Given the description of an element on the screen output the (x, y) to click on. 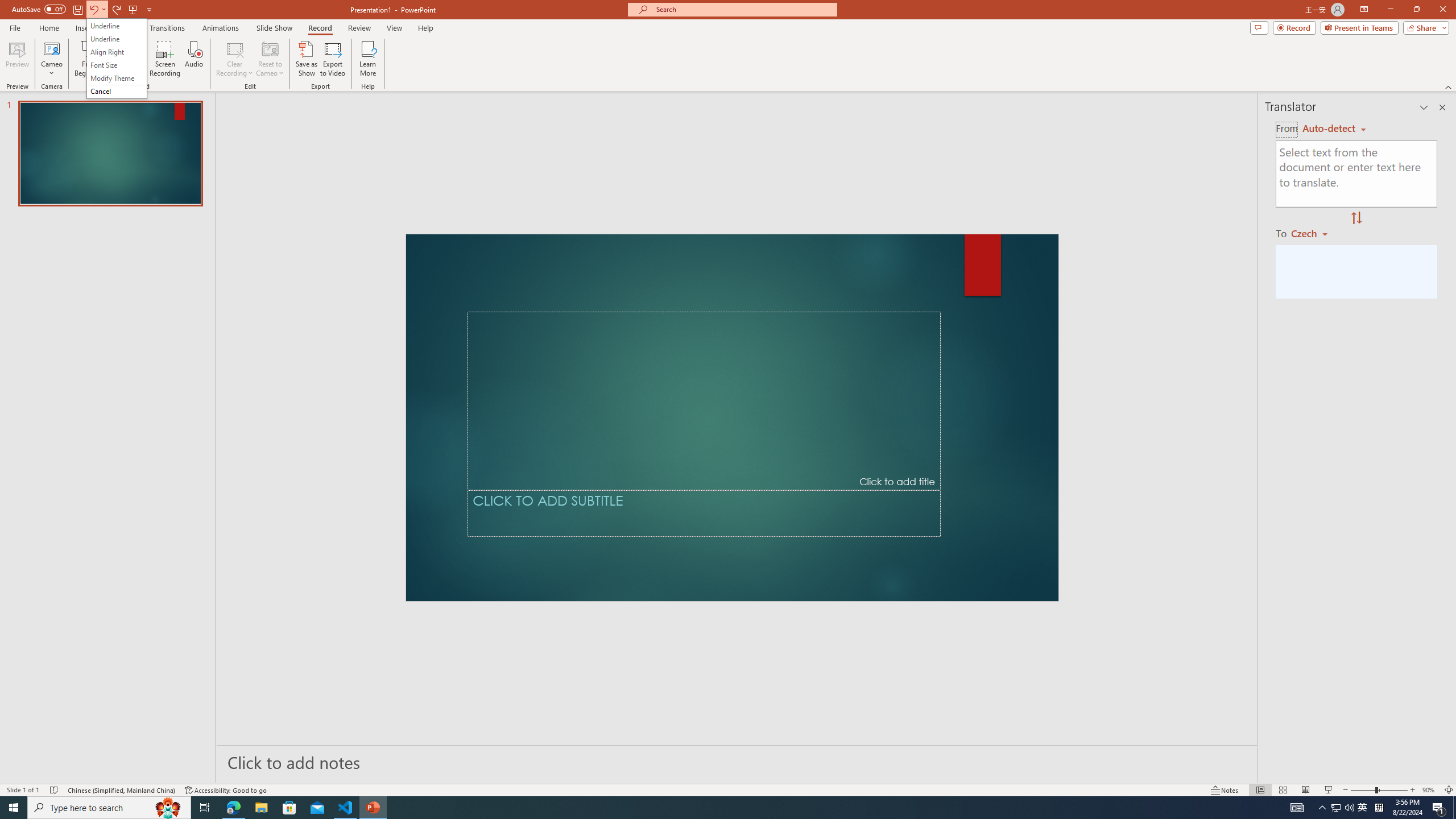
Swap "from" and "to" languages. (1355, 218)
